Given the description of an element on the screen output the (x, y) to click on. 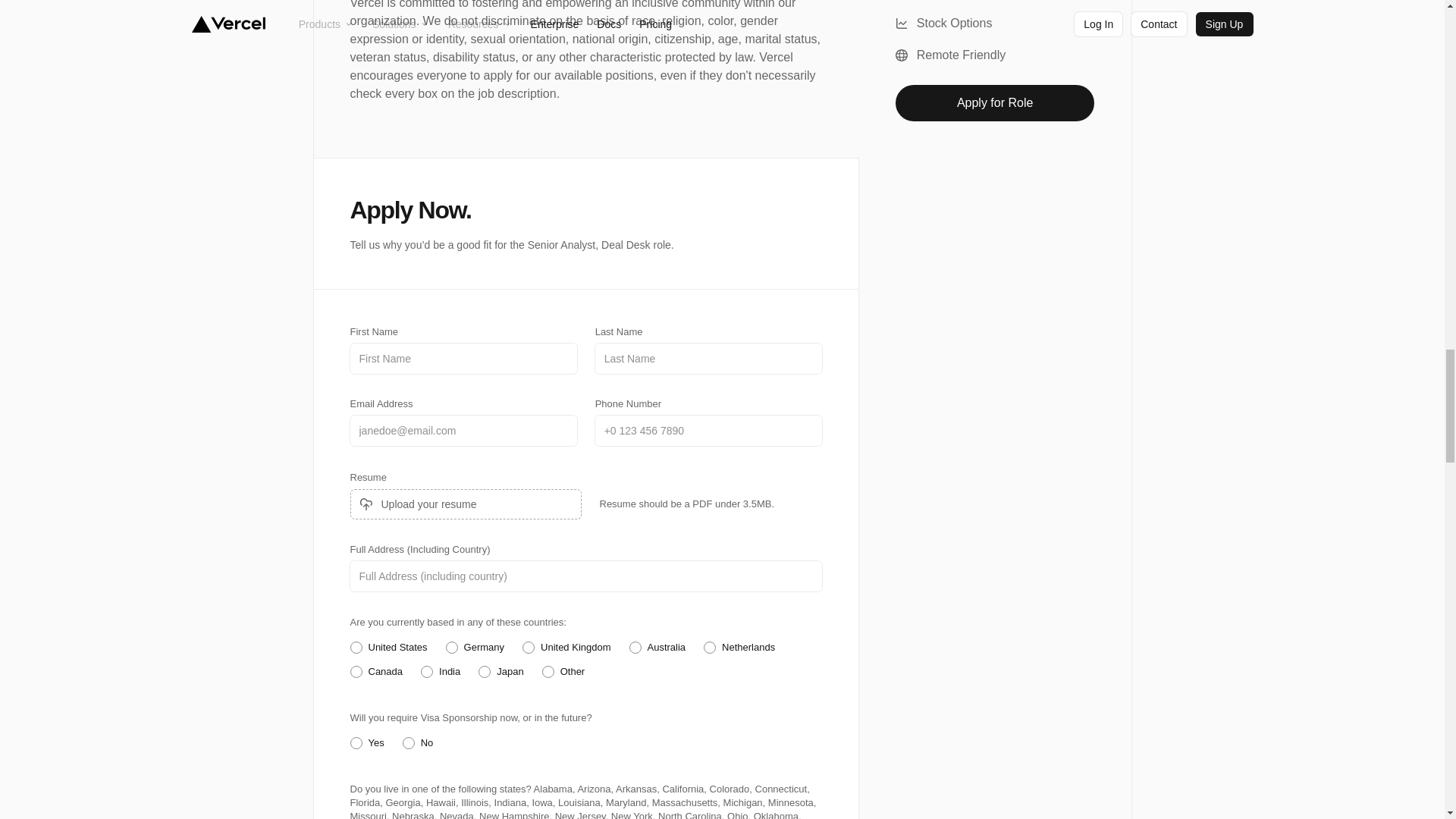
Upload your resume (465, 503)
